Given the description of an element on the screen output the (x, y) to click on. 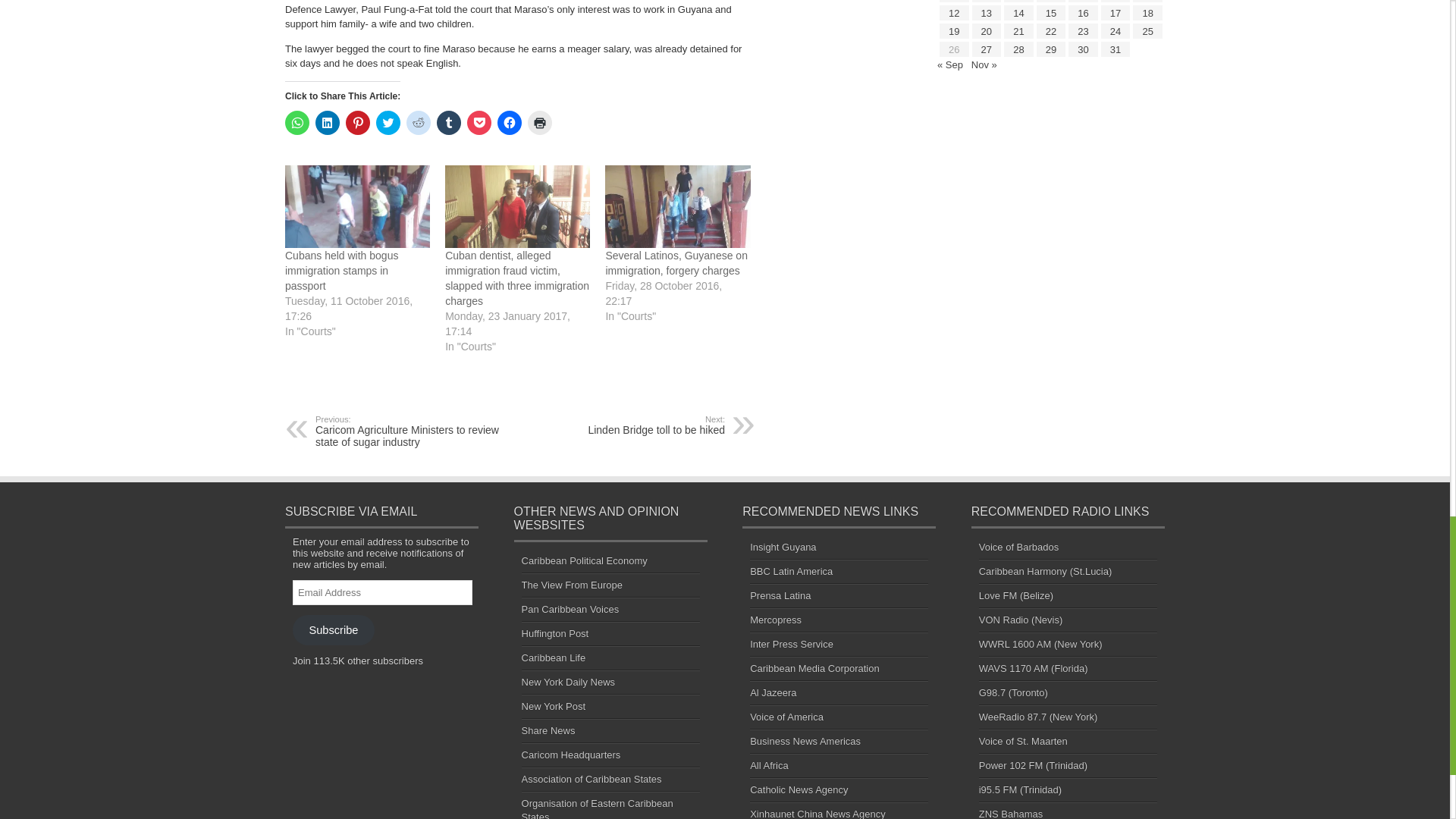
Click to share on LinkedIn (327, 122)
Cubans held with bogus immigration stamps in passport (341, 270)
Click to share on Pinterest (357, 122)
Click to share on Facebook (509, 122)
Click to share on Pocket (479, 122)
Click to share on Tumblr (448, 122)
Click to share on Twitter (387, 122)
Click to share on WhatsApp (296, 122)
Click to share on Reddit (418, 122)
